Given the description of an element on the screen output the (x, y) to click on. 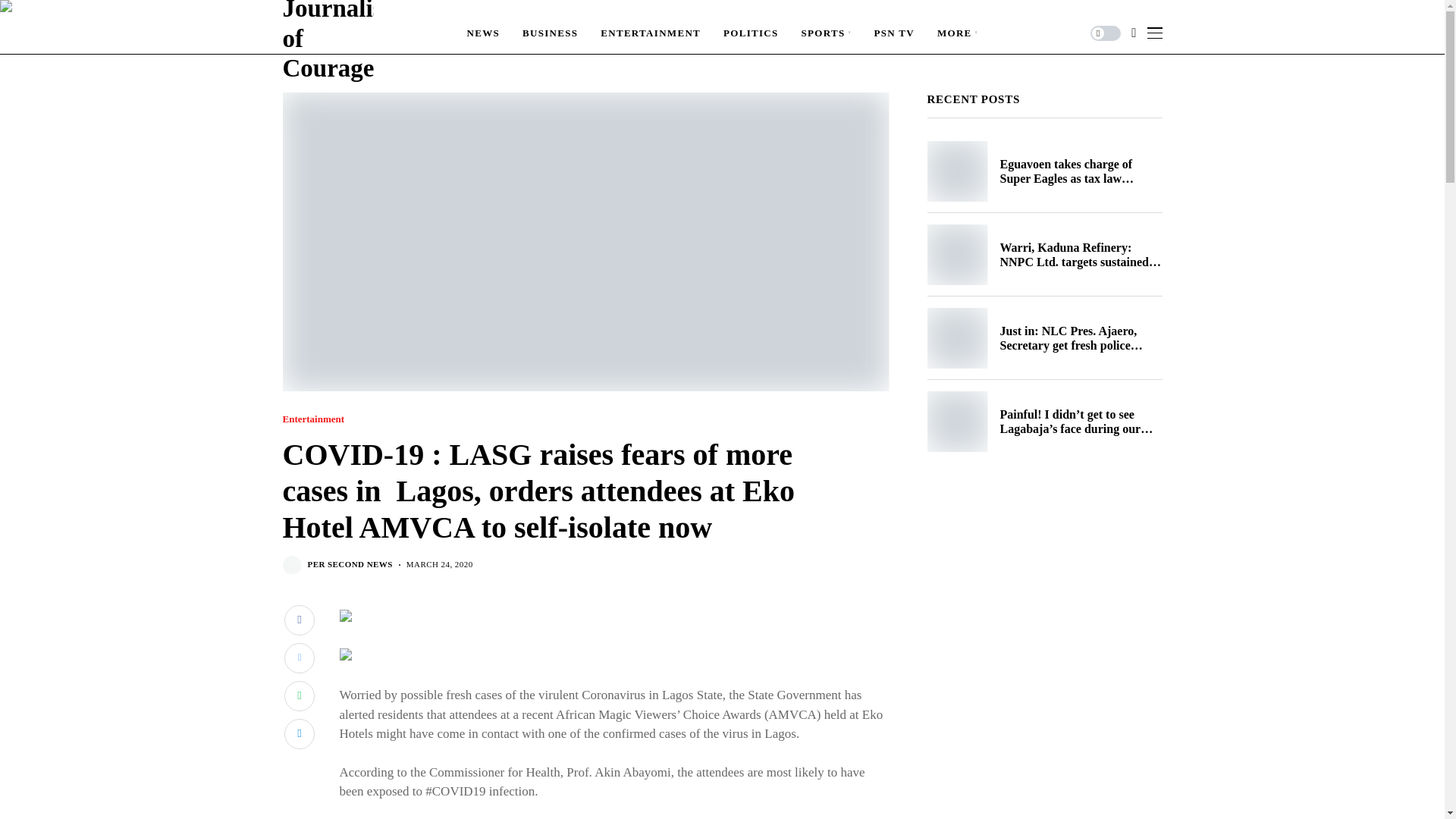
Posts by Per Second News (350, 564)
BUSINESS (550, 33)
SPORTS (826, 33)
PSN TV (893, 33)
POLITICS (750, 33)
ENTERTAINMENT (649, 33)
MORE (957, 33)
